Given the description of an element on the screen output the (x, y) to click on. 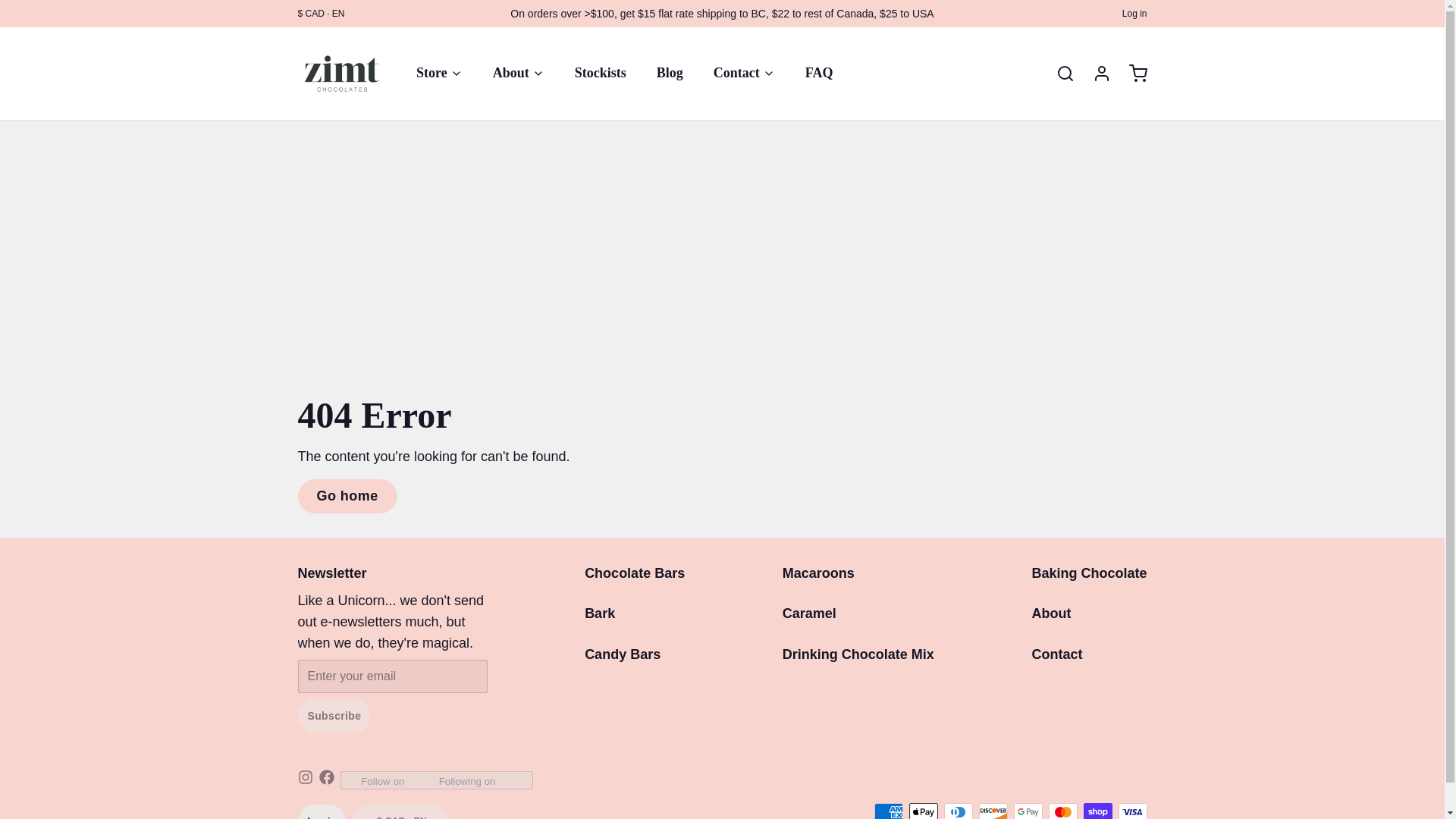
 Log in (1094, 73)
Zimt Chocolates  (341, 73)
Blog (670, 72)
Contact (744, 72)
FAQ (819, 72)
Stockists (600, 72)
Cart (1131, 73)
Search (1058, 73)
Store (439, 72)
About (518, 72)
